Given the description of an element on the screen output the (x, y) to click on. 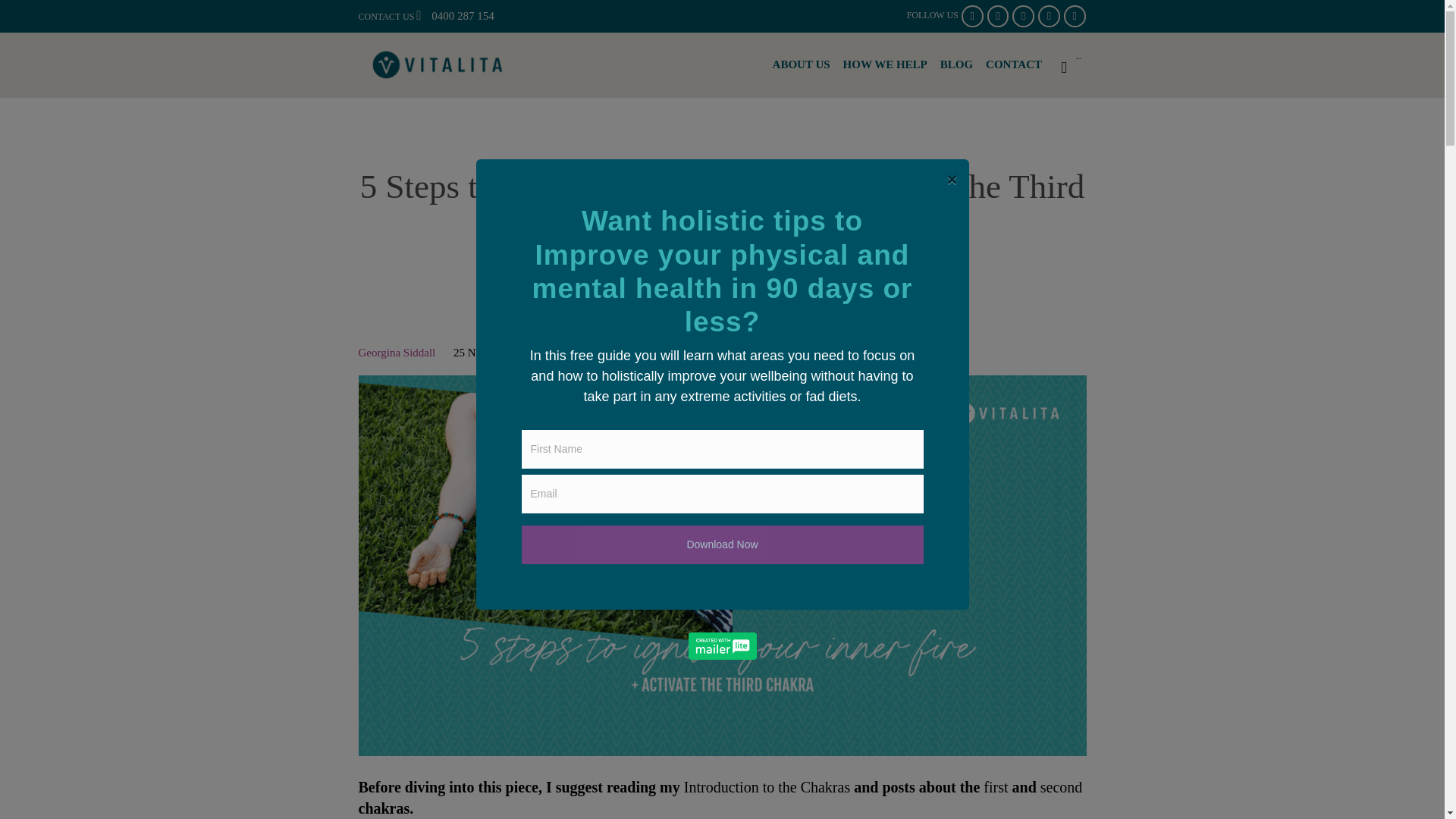
ABOUT US (800, 64)
HOW WE HELP (885, 64)
0400 287 154 (462, 15)
